Given the description of an element on the screen output the (x, y) to click on. 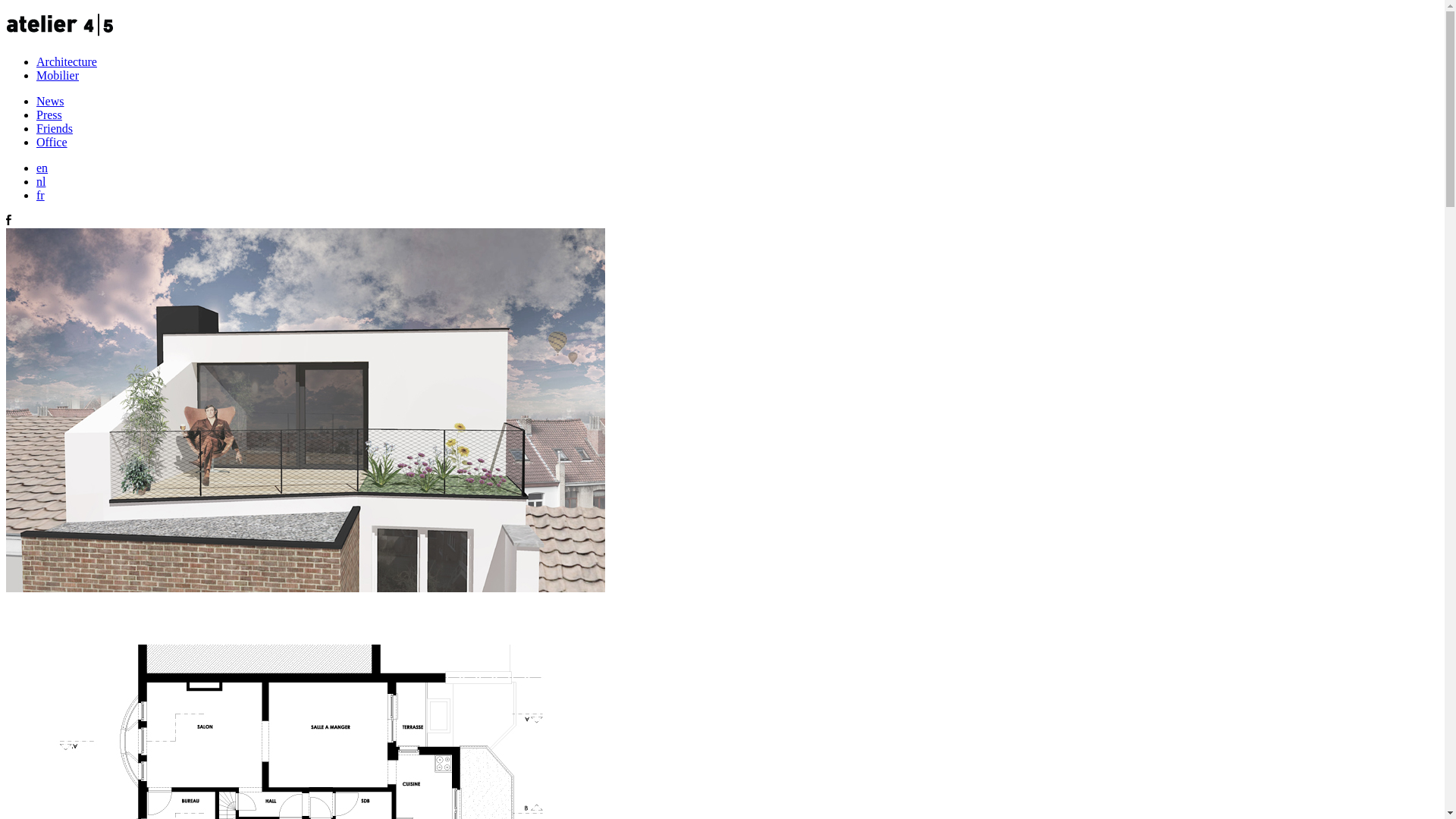
Home Element type: hover (59, 35)
Architecture Element type: text (66, 61)
Press Element type: text (49, 114)
Office Element type: text (51, 141)
News Element type: text (49, 100)
fr Element type: text (40, 194)
Friends Element type: text (54, 128)
Mobilier Element type: text (57, 75)
nl Element type: text (40, 181)
en Element type: text (41, 167)
